Given the description of an element on the screen output the (x, y) to click on. 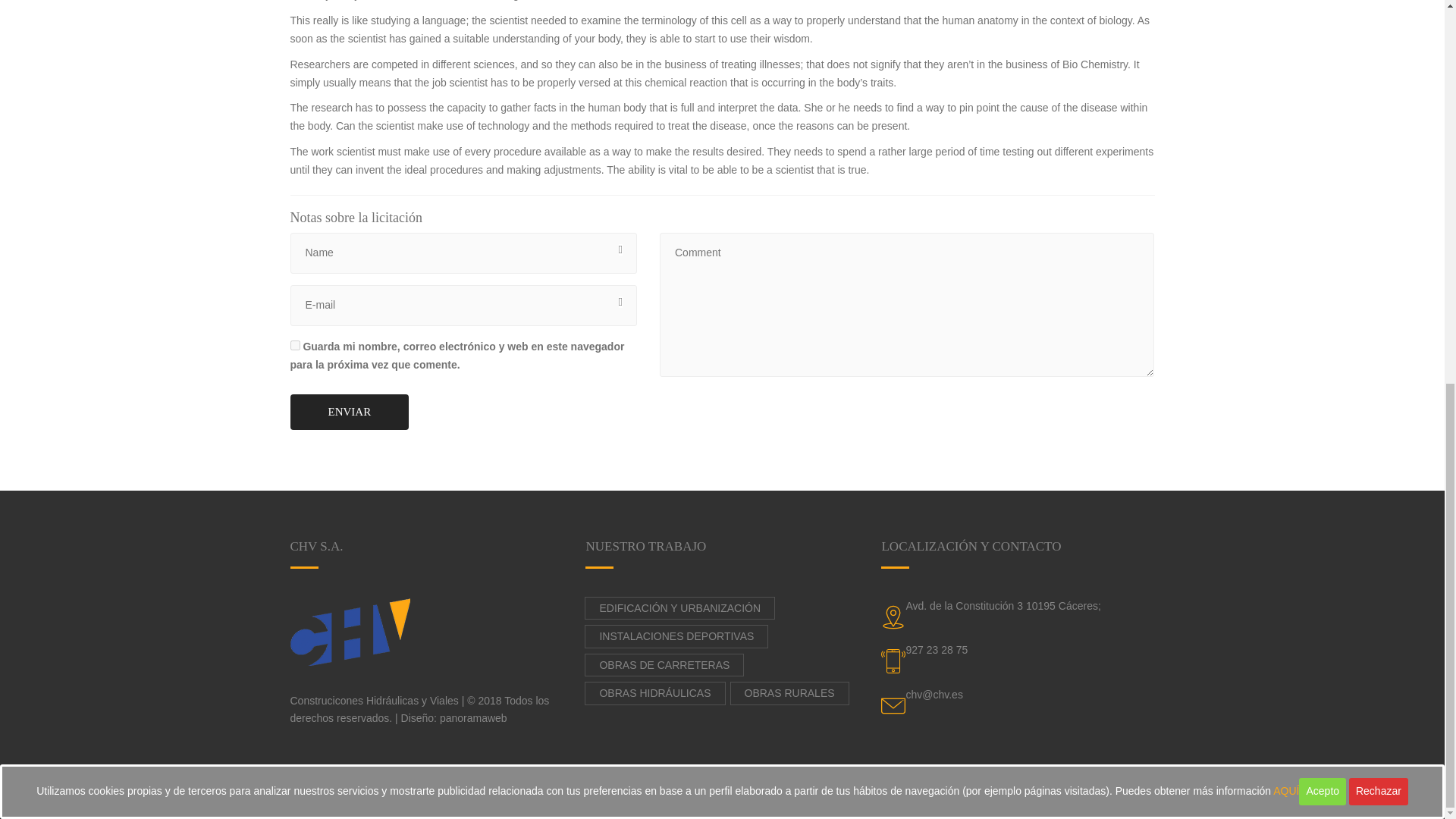
INSTALACIONES DEPORTIVAS (676, 636)
OBRAS DE CARRETERAS (664, 665)
ENVIAR (349, 411)
panoramaweb (928, 799)
Acepto (1321, 72)
OBRAS RURALES (789, 693)
yes (294, 345)
Rechazar (1378, 72)
panoramaweb (472, 717)
